Given the description of an element on the screen output the (x, y) to click on. 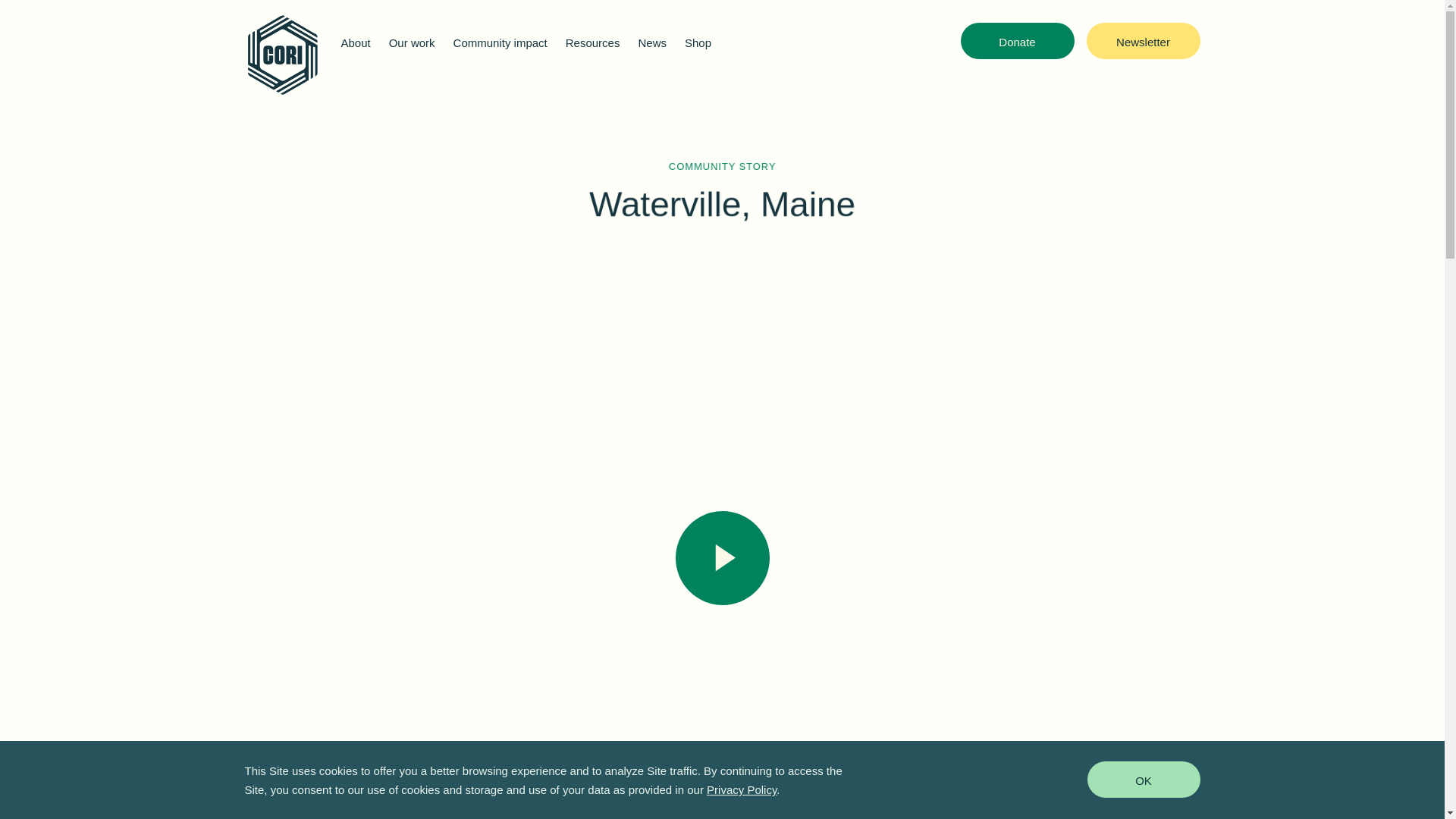
About (355, 44)
Our work (411, 44)
News (651, 44)
Resources (593, 44)
Community impact (499, 44)
